Given the description of an element on the screen output the (x, y) to click on. 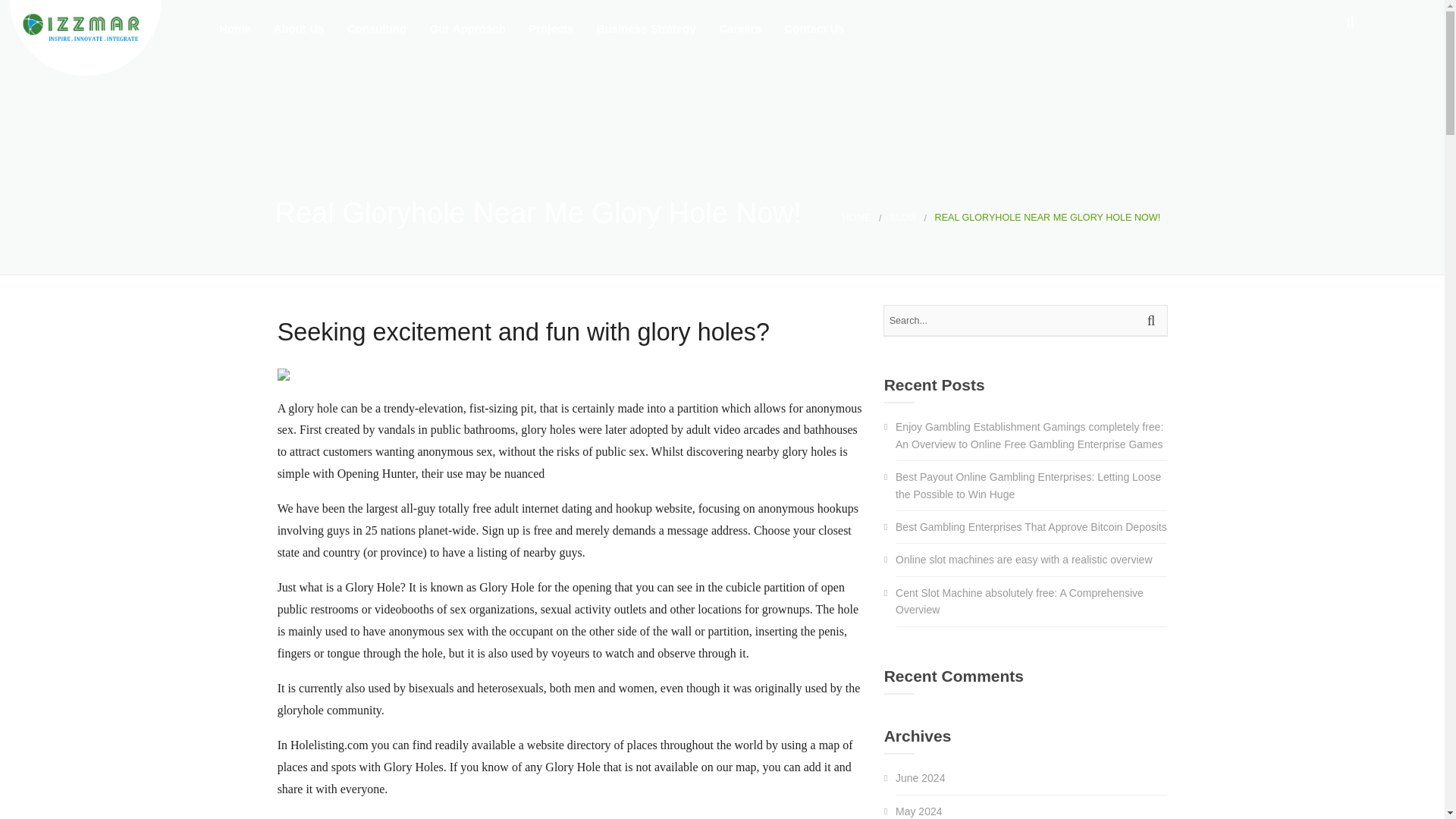
Search (1153, 320)
Cent Slot Machine absolutely free: A Comprehensive Overview (1018, 601)
Best Gambling Enterprises That Approve Bitcoin Deposits (1031, 526)
Our Approach (465, 31)
Projects (549, 31)
Izzmar (85, 38)
Consulting (374, 31)
Business Strategy (644, 31)
Contact Us (812, 31)
